Given the description of an element on the screen output the (x, y) to click on. 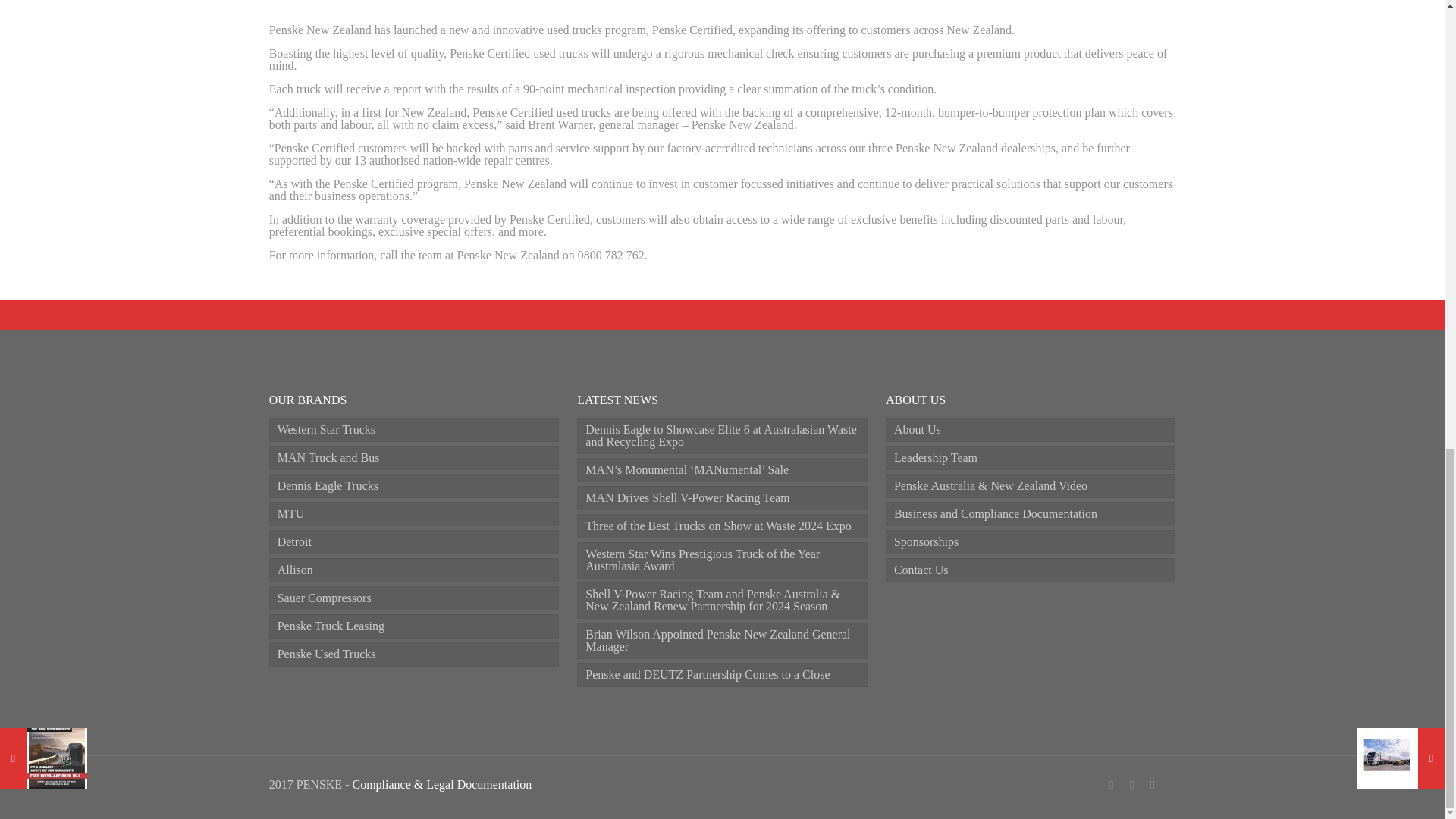
Instagram (1152, 784)
Facebook (1111, 784)
LinkedIn (1132, 784)
